Given the description of an element on the screen output the (x, y) to click on. 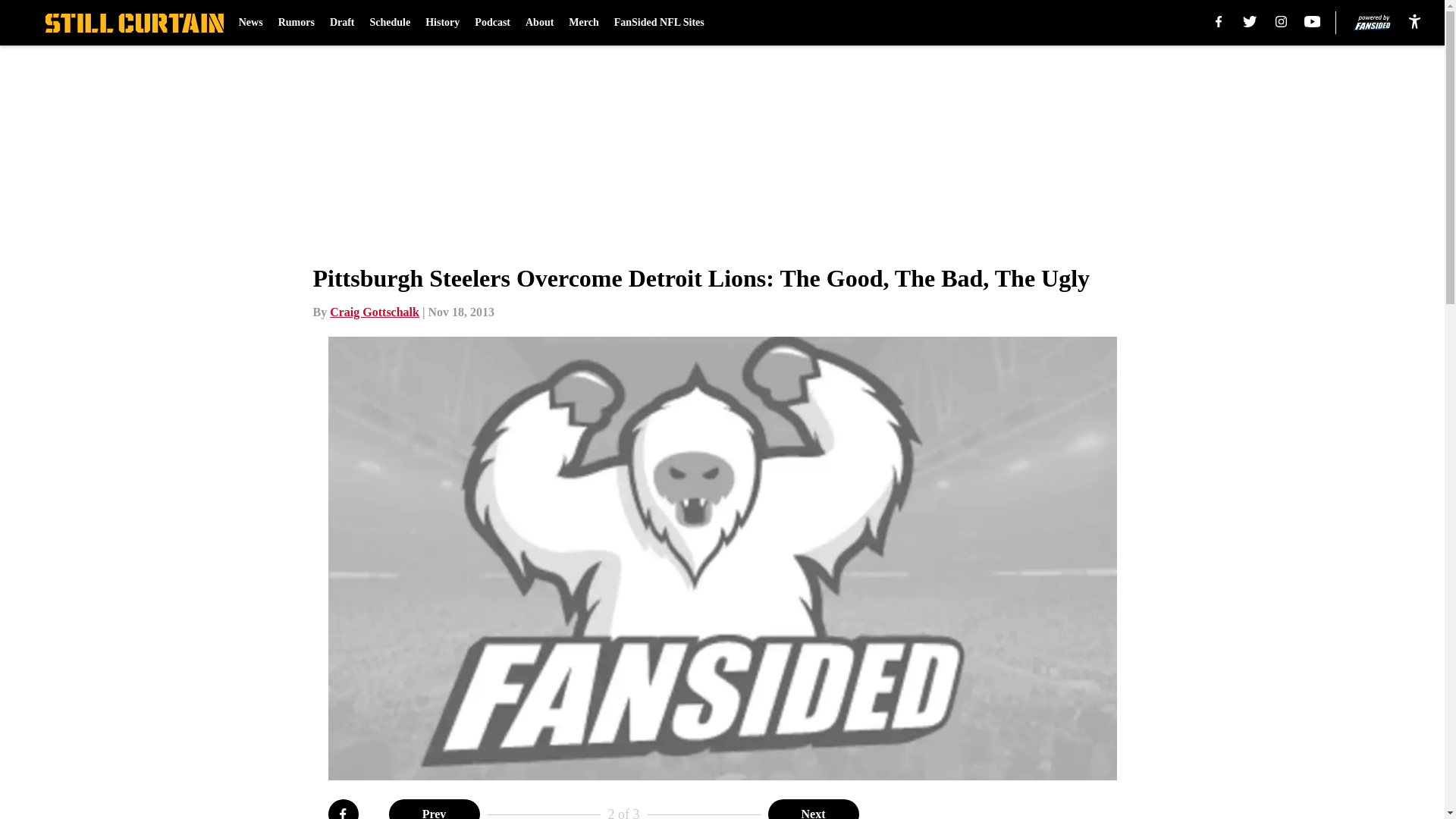
Craig Gottschalk (374, 311)
About (539, 22)
Podcast (492, 22)
Rumors (296, 22)
FanSided NFL Sites (659, 22)
Draft (342, 22)
Merch (583, 22)
Prev (433, 809)
Schedule (389, 22)
News (250, 22)
